Given the description of an element on the screen output the (x, y) to click on. 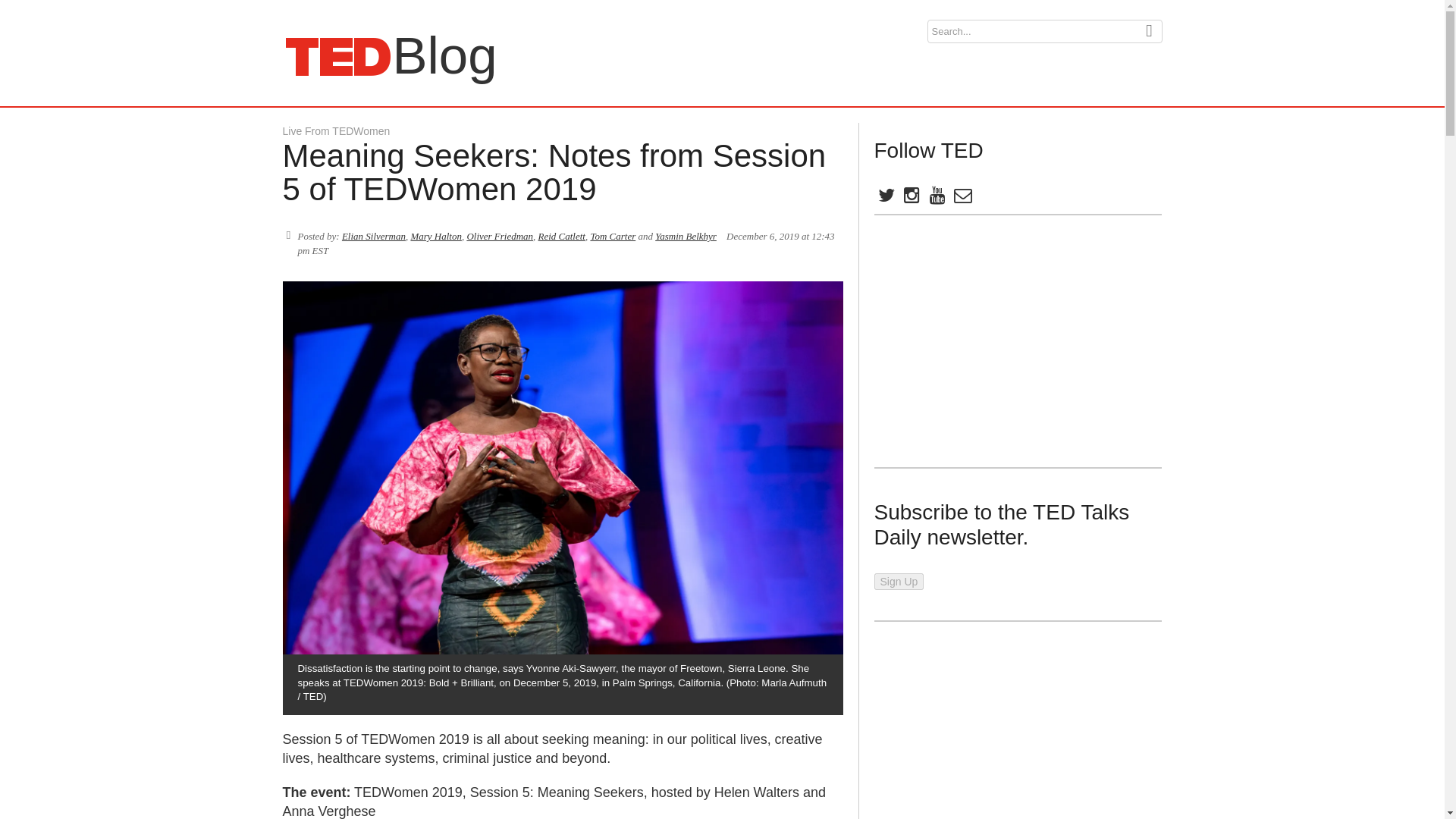
Posts by Elian Silverman (374, 235)
Sign Up (898, 581)
Posts by Oliver Friedman (498, 235)
Yasmin Belkhyr (685, 235)
Posts by Reid Catlett (561, 235)
3rd party ad content (986, 341)
Instagram (910, 197)
Subscribe to TED Blog by email (961, 197)
TED Blog (337, 56)
Sign Up (898, 581)
Mary Halton (435, 235)
Reid Catlett (337, 56)
Posts by Mary Halton (561, 235)
Tom Carter (435, 235)
